Given the description of an element on the screen output the (x, y) to click on. 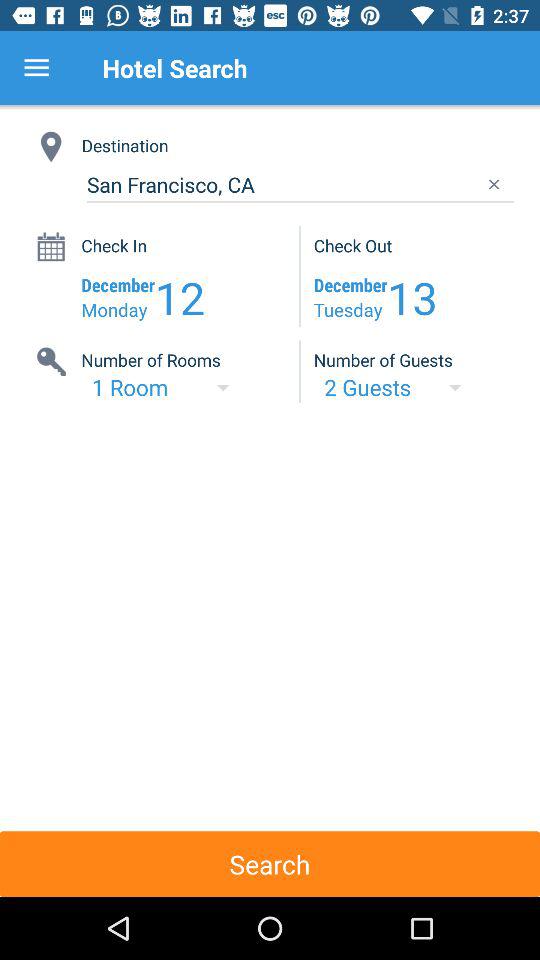
tap san francisco, ca icon (300, 184)
